Given the description of an element on the screen output the (x, y) to click on. 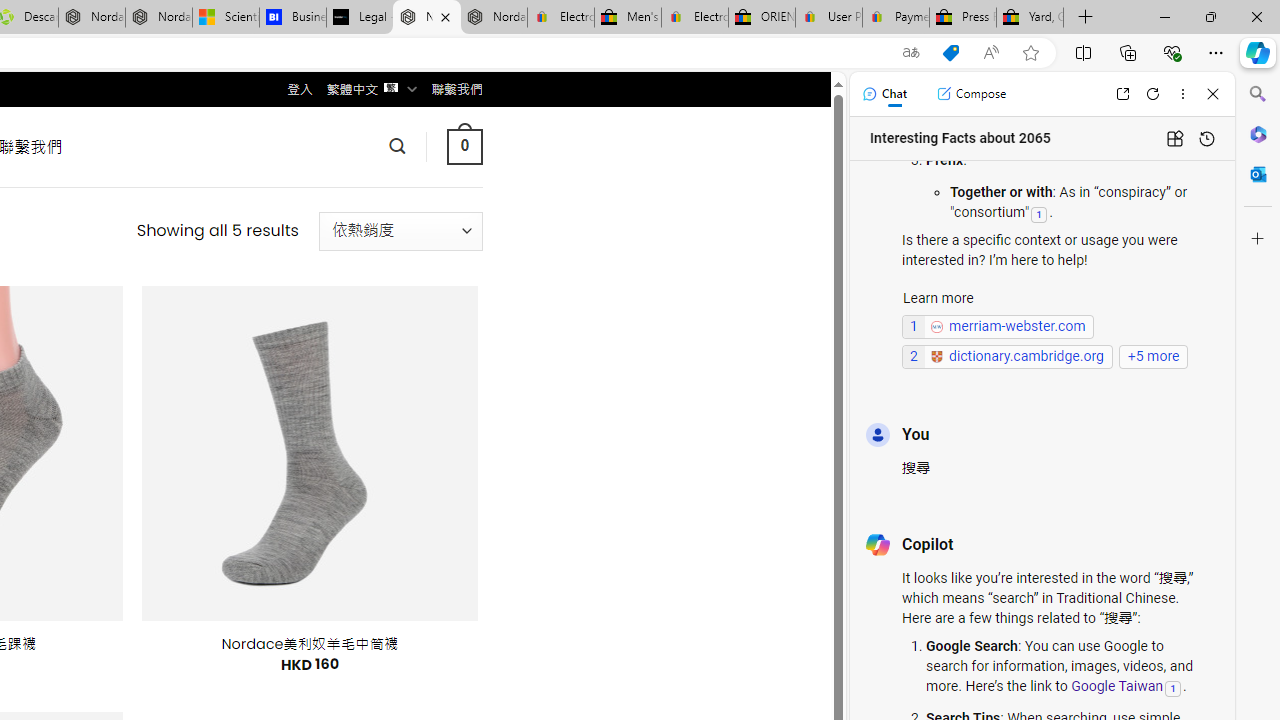
Compose (971, 93)
This site has coupons! Shopping in Microsoft Edge (950, 53)
  0   (464, 146)
